Given the description of an element on the screen output the (x, y) to click on. 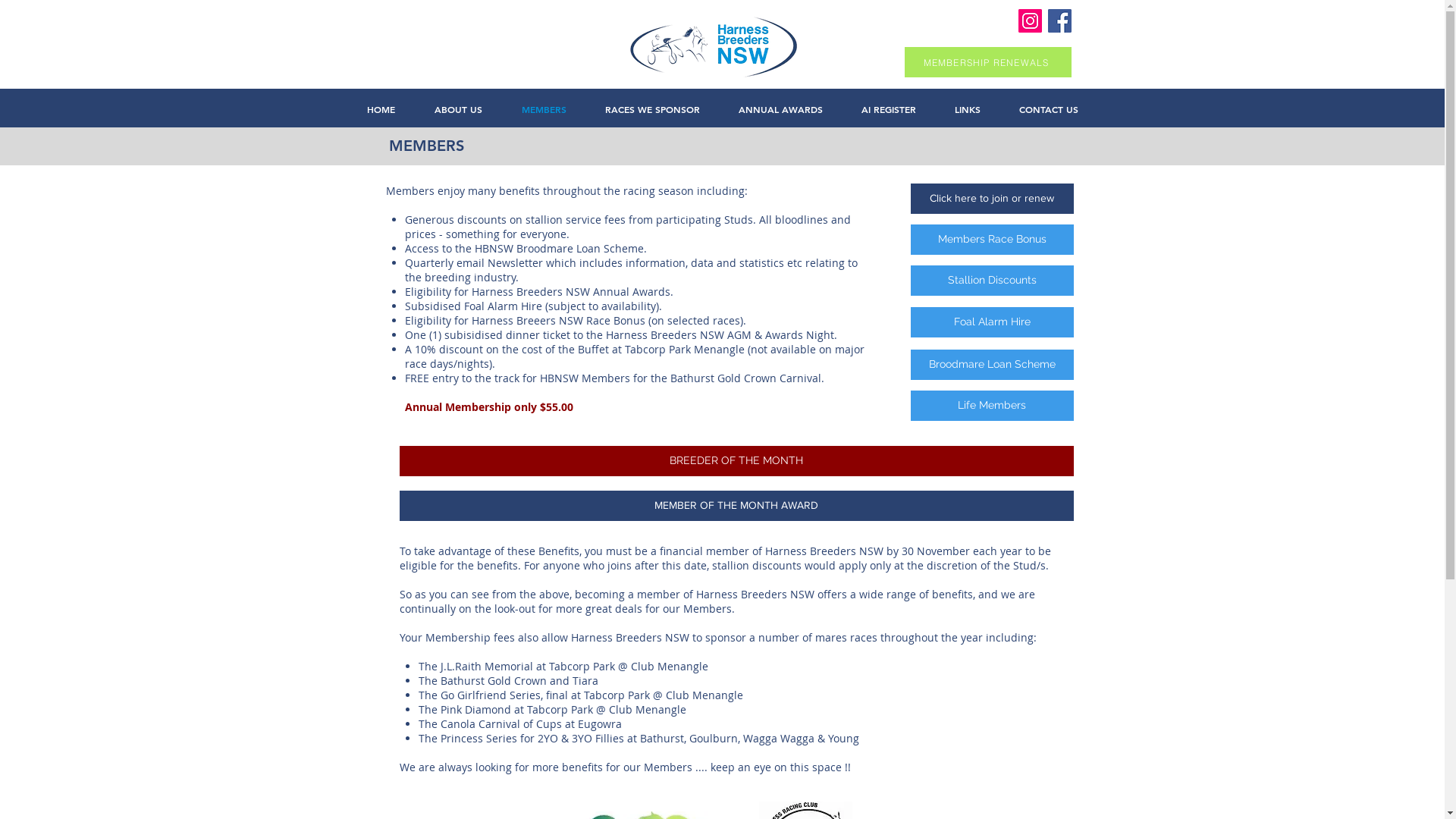
ABOUT US Element type: text (457, 109)
Broodmare Loan Scheme Element type: text (991, 364)
Members Race Bonus Element type: text (991, 239)
BREEDER OF THE MONTH Element type: text (735, 460)
ANNUAL AWARDS Element type: text (779, 109)
Foal Alarm Hire Element type: text (991, 322)
LINKS Element type: text (967, 109)
MEMBERS Element type: text (544, 109)
Click here to join or renew Element type: text (991, 198)
Stallion Discounts Element type: text (991, 280)
Life Members Element type: text (991, 405)
MEMBER OF THE MONTH AWARD Element type: text (735, 505)
CONTACT US Element type: text (1048, 109)
AI REGISTER Element type: text (888, 109)
MEMBERSHIP RENEWALS Element type: text (986, 62)
RACES WE SPONSOR Element type: text (651, 109)
HOME Element type: text (380, 109)
